Given the description of an element on the screen output the (x, y) to click on. 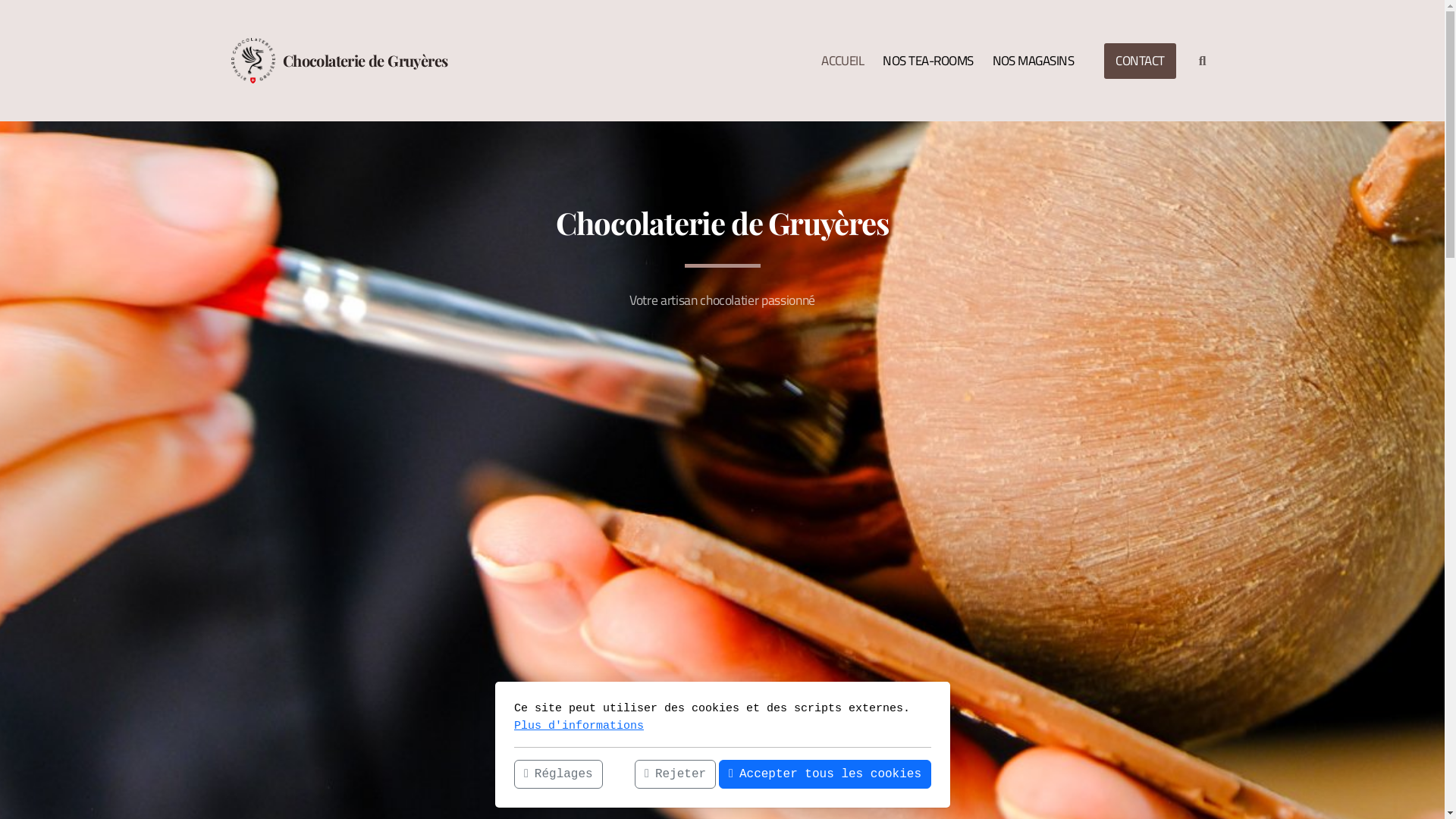
NOS MAGASINS Element type: text (1033, 61)
NOS TEA-ROOMS Element type: text (927, 61)
ACCUEIL Element type: text (842, 61)
Rejeter Element type: text (674, 773)
Plus d'informations Element type: text (578, 724)
CONTACT Element type: text (1139, 60)
Accepter tous les cookies Element type: text (824, 773)
